Given the description of an element on the screen output the (x, y) to click on. 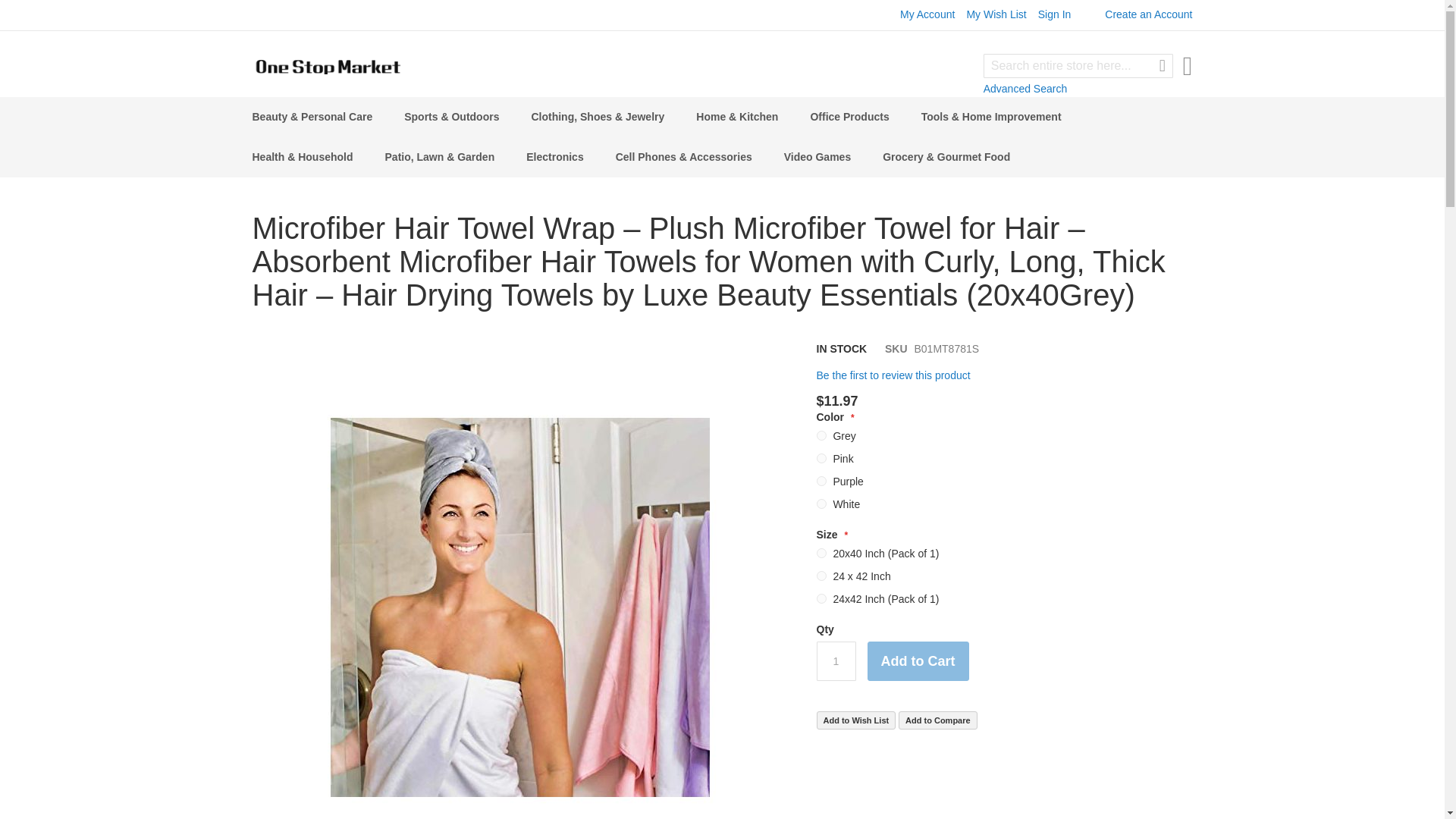
11286 (820, 435)
Sign In (1054, 14)
My Account (927, 14)
My Wish List (996, 14)
11284 (820, 598)
Availability (840, 349)
Advanced Search (1025, 88)
11288 (820, 480)
1 (835, 660)
11282 (820, 552)
11283 (820, 575)
Create an Account (1148, 14)
11287 (820, 458)
Add to Cart (918, 660)
11285 (820, 503)
